Given the description of an element on the screen output the (x, y) to click on. 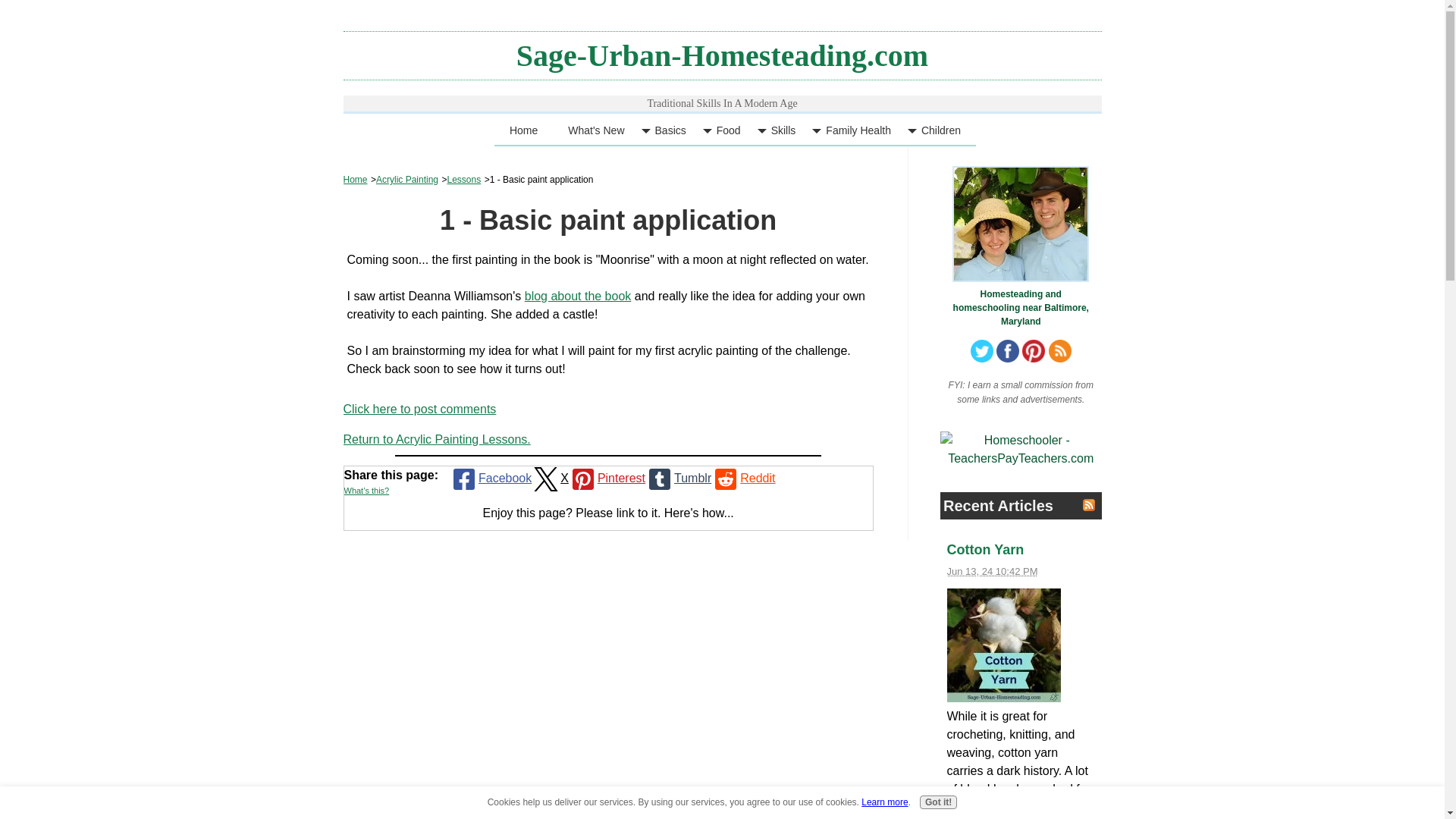
Lessons (463, 179)
Building a life together (1020, 223)
Home (354, 179)
Sage-Urban-Homesteading.com (722, 55)
What's New (596, 130)
Home (524, 130)
blog about the book (577, 295)
2024-06-13T22:42:59-0400 (991, 571)
Go to How to Be Happy (1021, 299)
Click here to post comments (419, 408)
Acrylic Painting (406, 179)
